Given the description of an element on the screen output the (x, y) to click on. 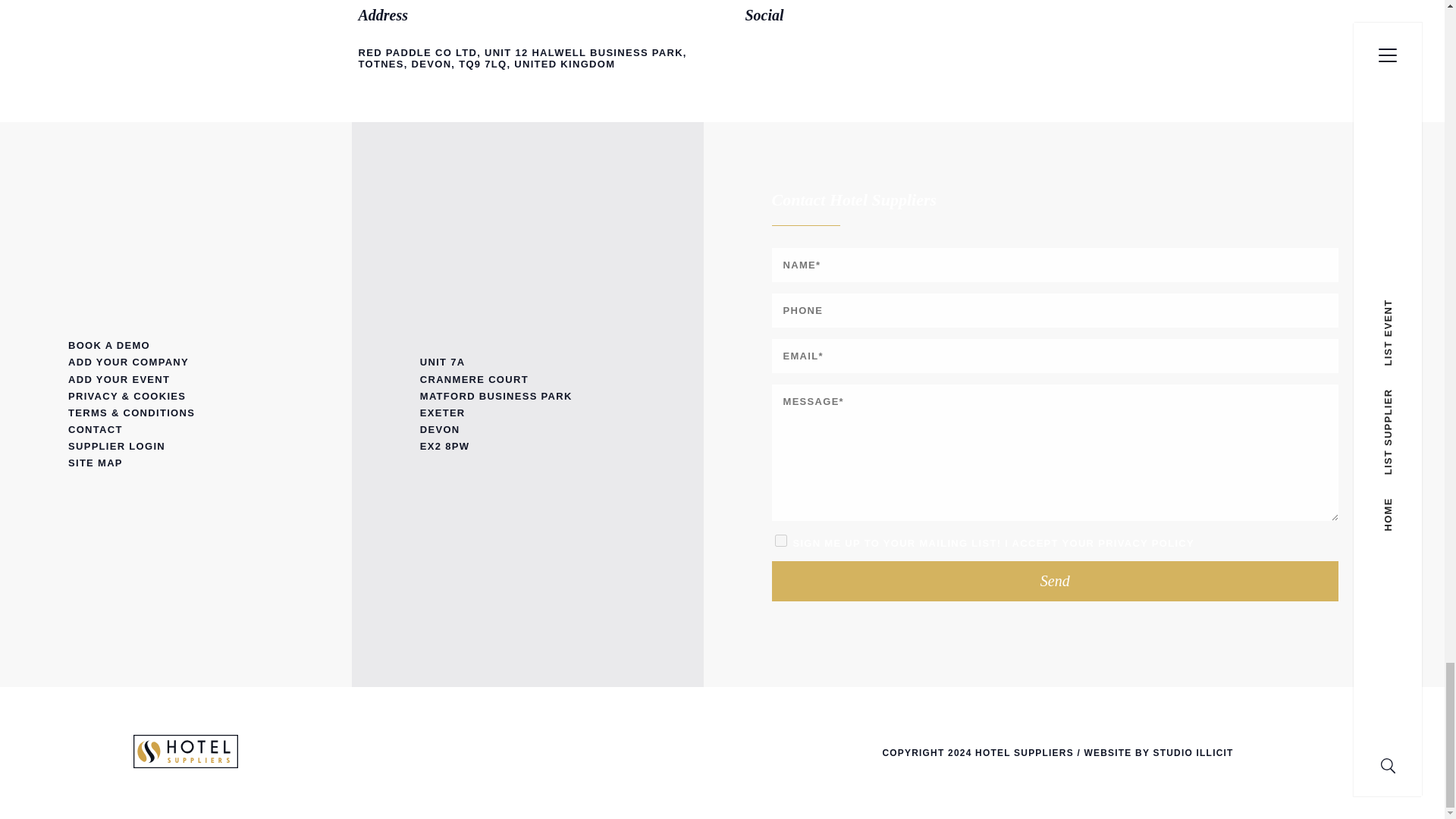
ADD YOUR COMPANY (175, 362)
CONTACT (175, 429)
BOOK A DEMO (175, 345)
ADD YOUR EVENT (175, 379)
SITE MAP (175, 463)
Send (1055, 581)
SUPPLIER LOGIN (175, 446)
Send (1055, 581)
